Given the description of an element on the screen output the (x, y) to click on. 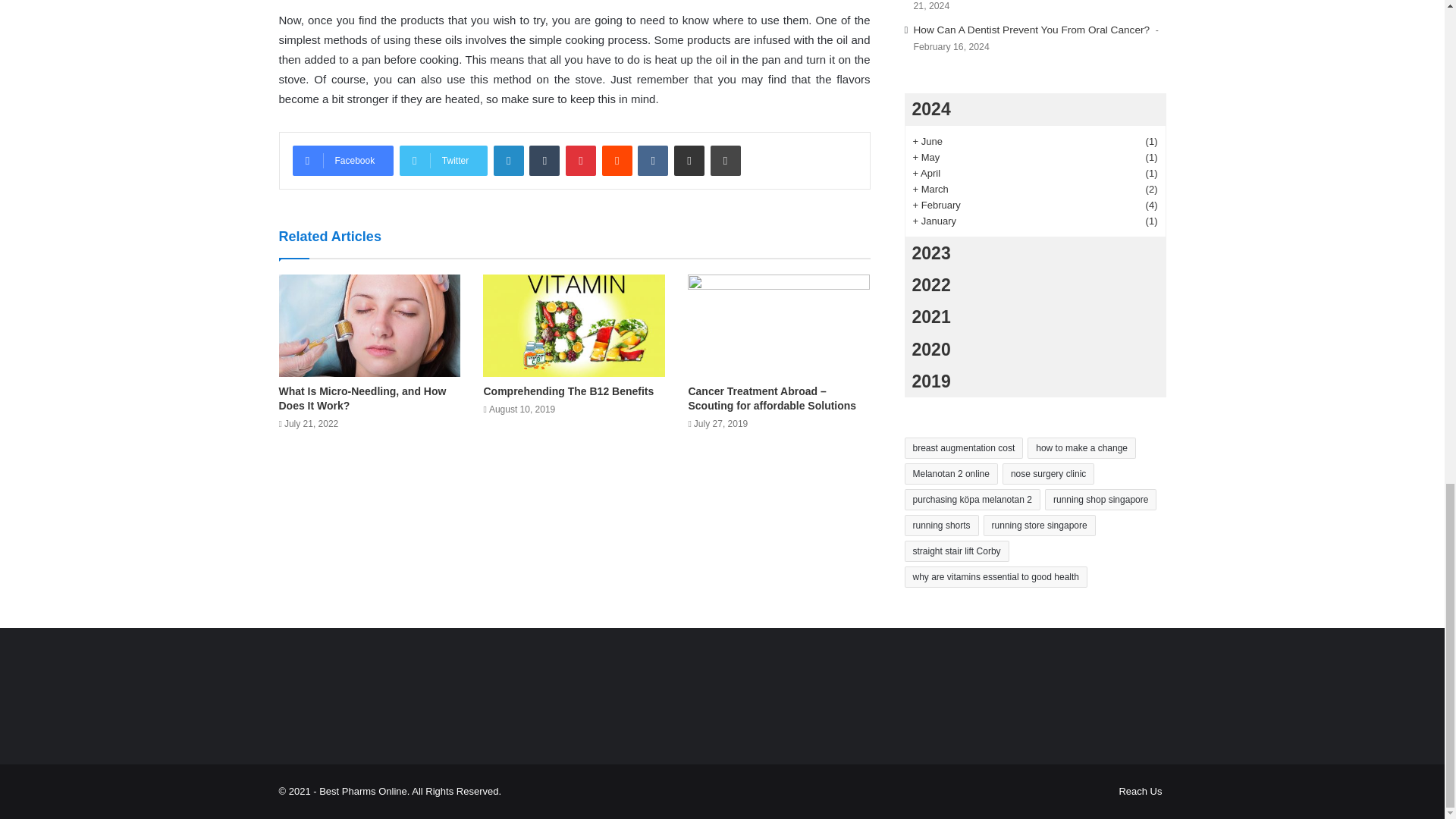
LinkedIn (508, 160)
Facebook (343, 160)
Tumblr (544, 160)
Print (725, 160)
VKontakte (652, 160)
Reddit (616, 160)
Tumblr (544, 160)
Share via Email (689, 160)
LinkedIn (508, 160)
VKontakte (652, 160)
